Given the description of an element on the screen output the (x, y) to click on. 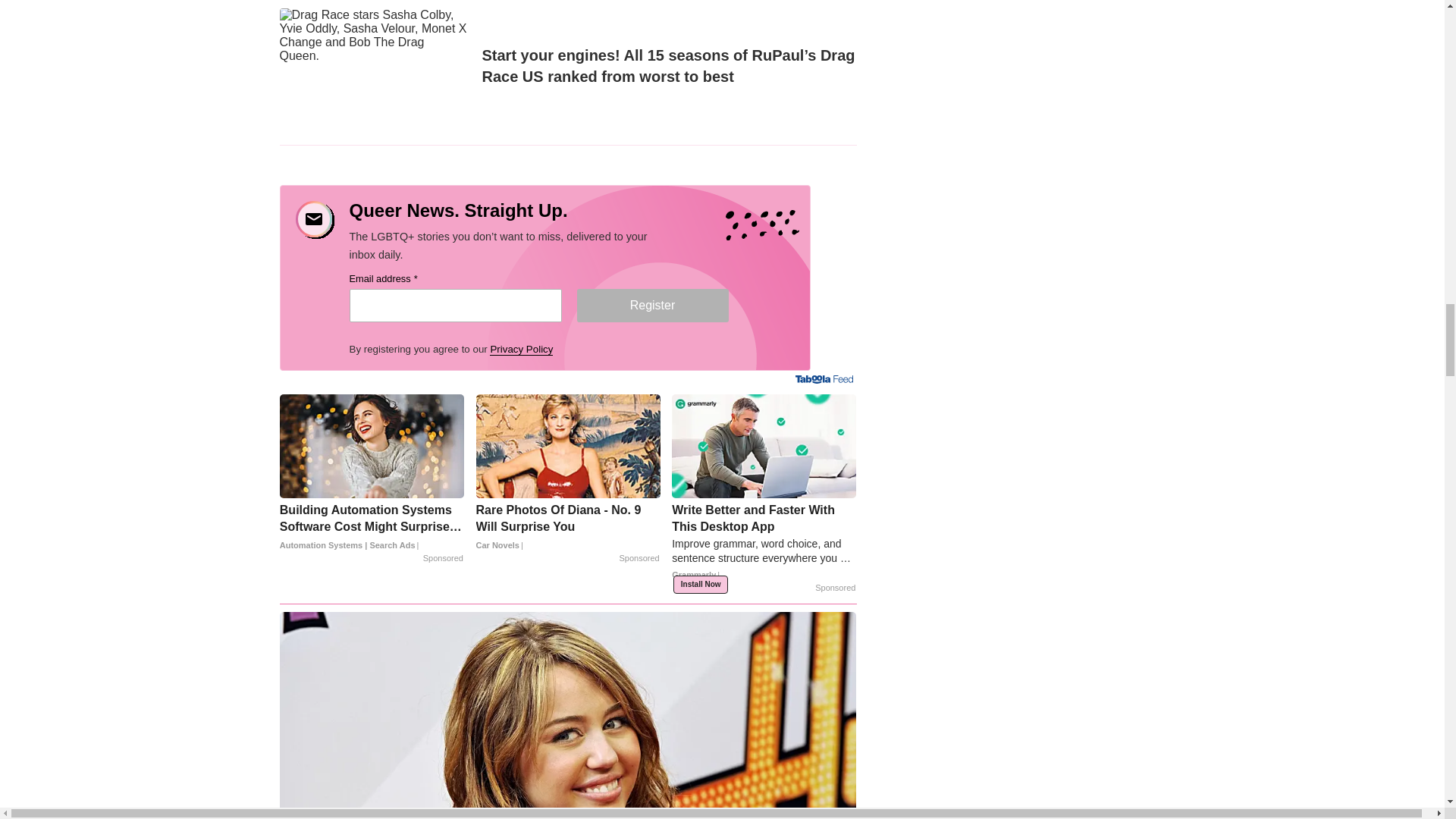
Rare Photos Of Diana - No. 9 Will Surprise You (568, 527)
Building Automation Systems Software Cost Might Surprise you (371, 527)
Write Better and Faster With This Desktop App (763, 547)
